Given the description of an element on the screen output the (x, y) to click on. 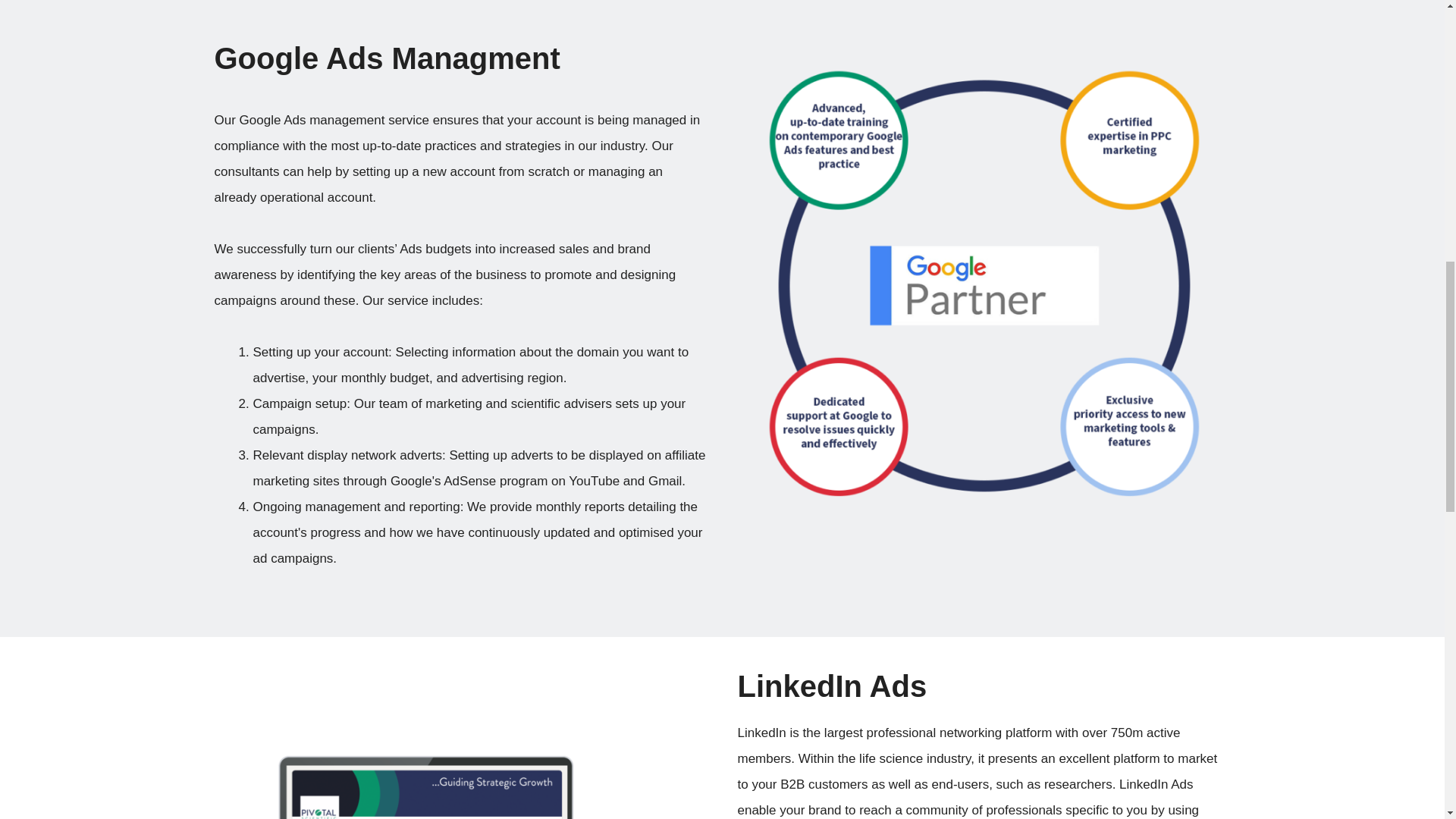
Linked In Home (463, 773)
